Given the description of an element on the screen output the (x, y) to click on. 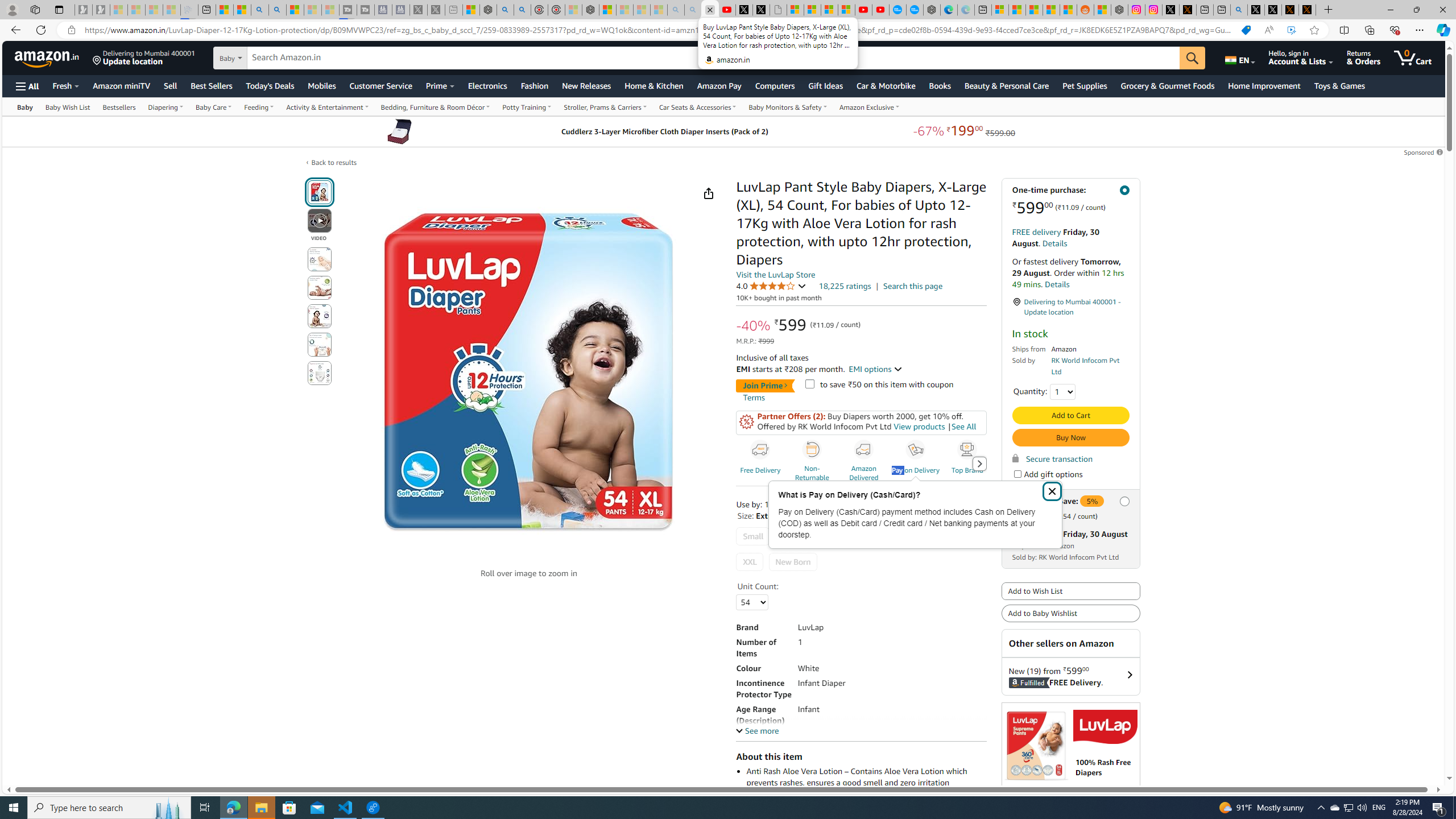
poe - Search (505, 9)
GitHub (@github) / X (1273, 9)
Nordace - Summer Adventures 2024 (1119, 9)
Microsoft account | Microsoft Account Privacy Settings (1000, 9)
The most popular Google 'how to' searches (914, 9)
Enhance video (1291, 29)
Nordace - Nordace Siena Is Not An Ordinary Backpack (590, 9)
Address and search bar (658, 29)
